Given the description of an element on the screen output the (x, y) to click on. 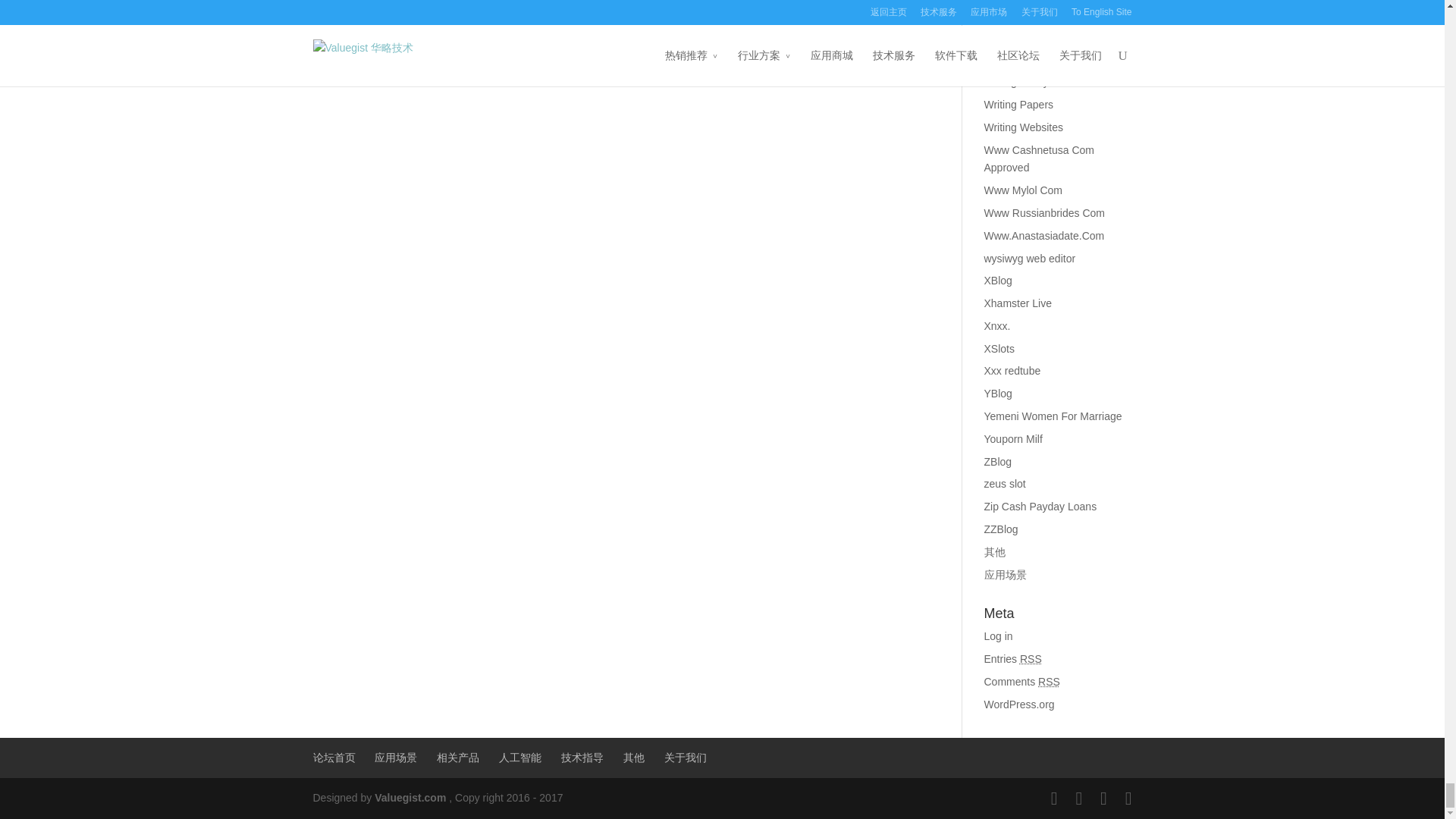
Really Simple Syndication (1048, 681)
Really Simple Syndication (1031, 658)
